Given the description of an element on the screen output the (x, y) to click on. 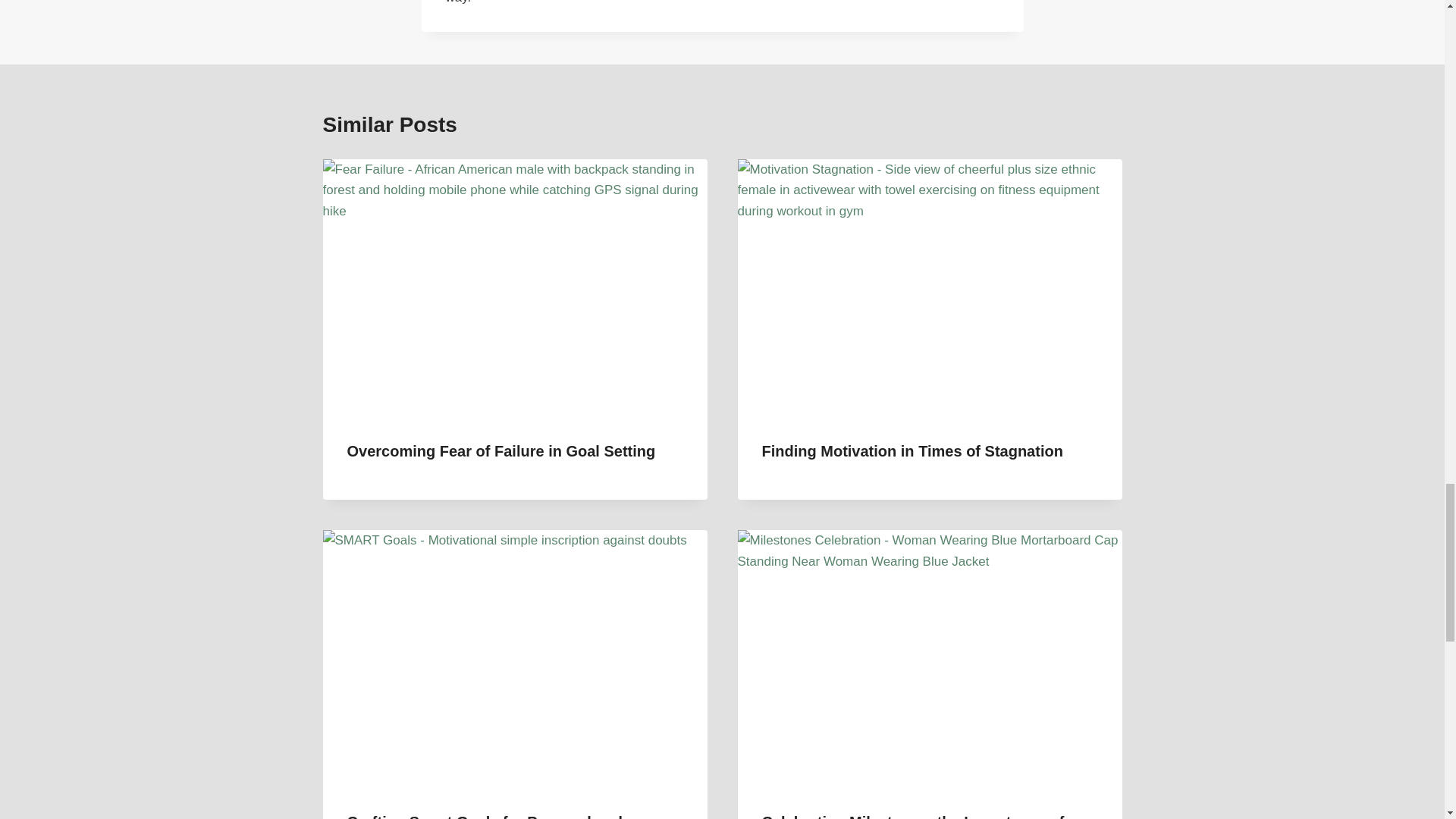
Finding Motivation in Times of Stagnation (911, 451)
Overcoming Fear of Failure in Goal Setting (501, 451)
Crafting Smart Goals for Personal and Professional Growth (485, 816)
